Given the description of an element on the screen output the (x, y) to click on. 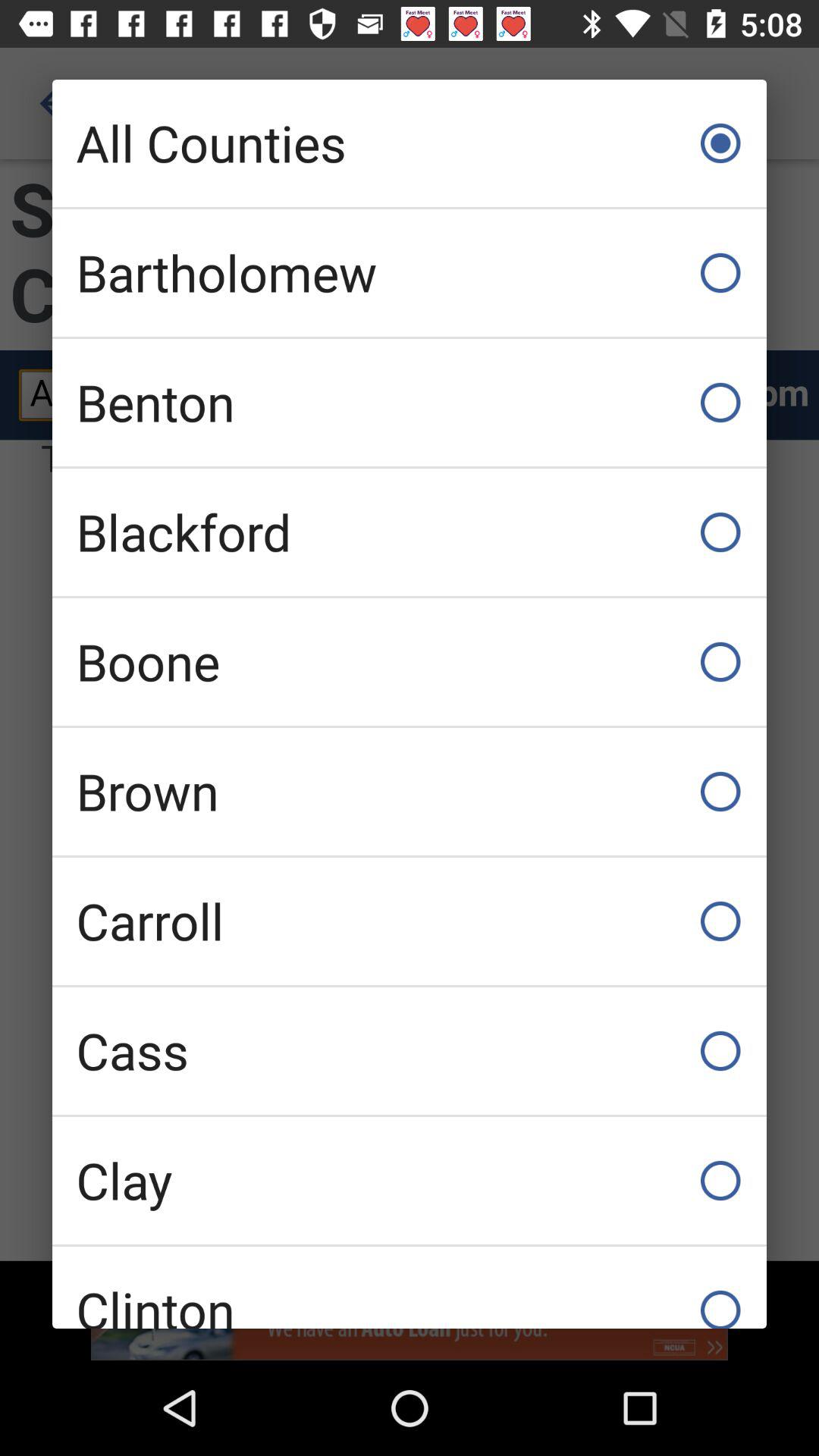
select the icon below all counties icon (409, 272)
